Given the description of an element on the screen output the (x, y) to click on. 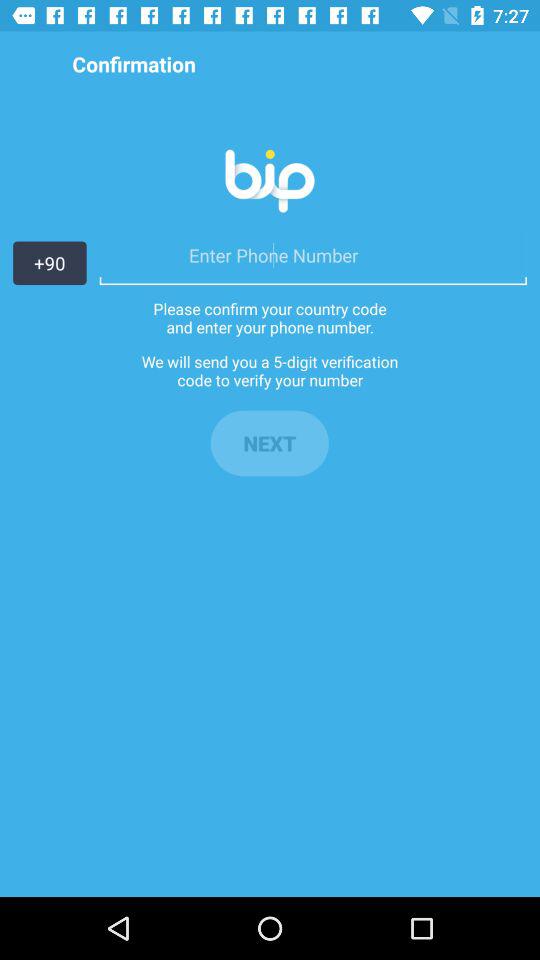
turn off item below the we will send icon (269, 443)
